Given the description of an element on the screen output the (x, y) to click on. 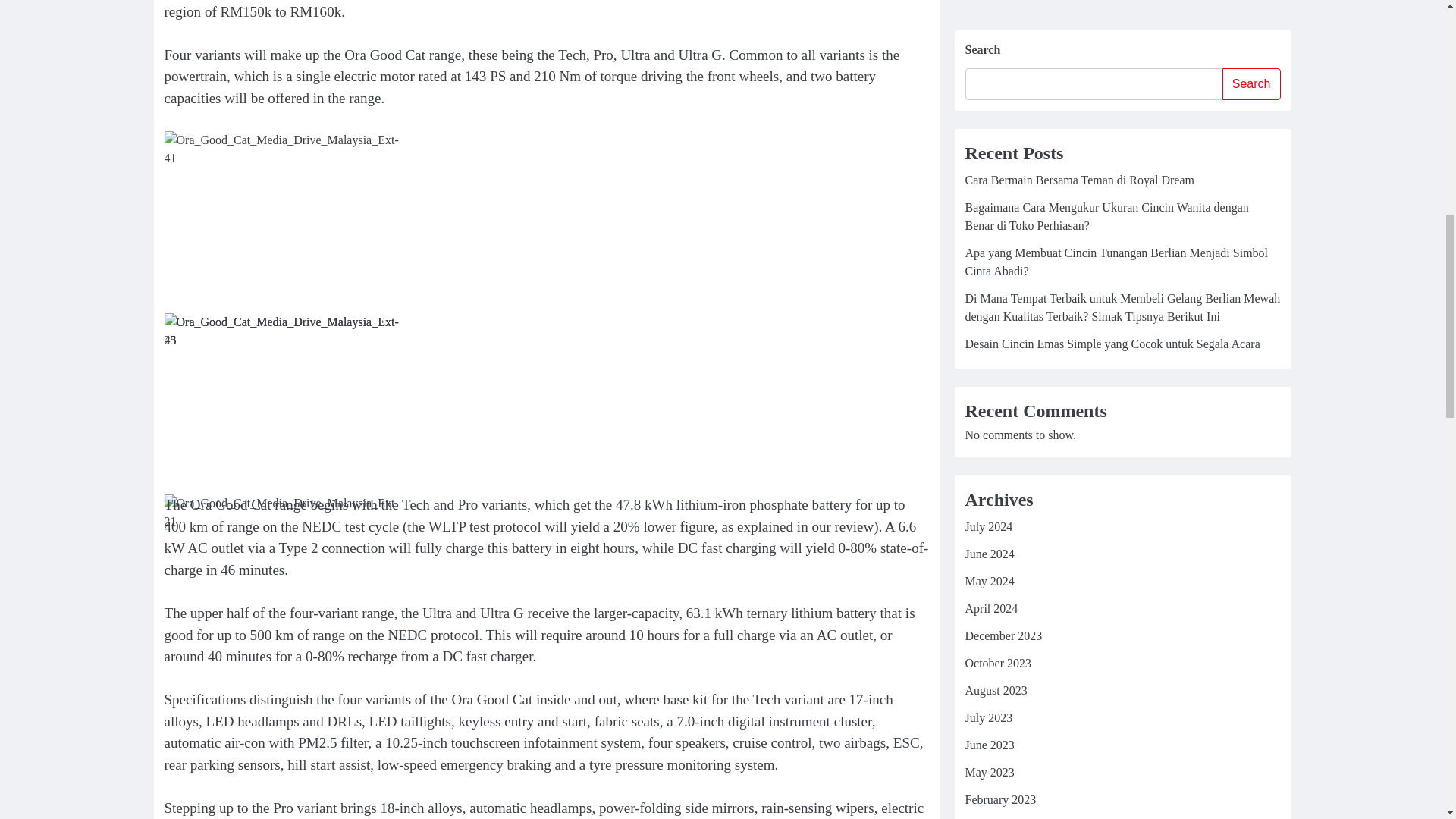
June 2023 (988, 33)
July 2023 (987, 6)
December 2022 (1002, 142)
February 2023 (999, 88)
May 2023 (988, 60)
January 2023 (996, 115)
